Given the description of an element on the screen output the (x, y) to click on. 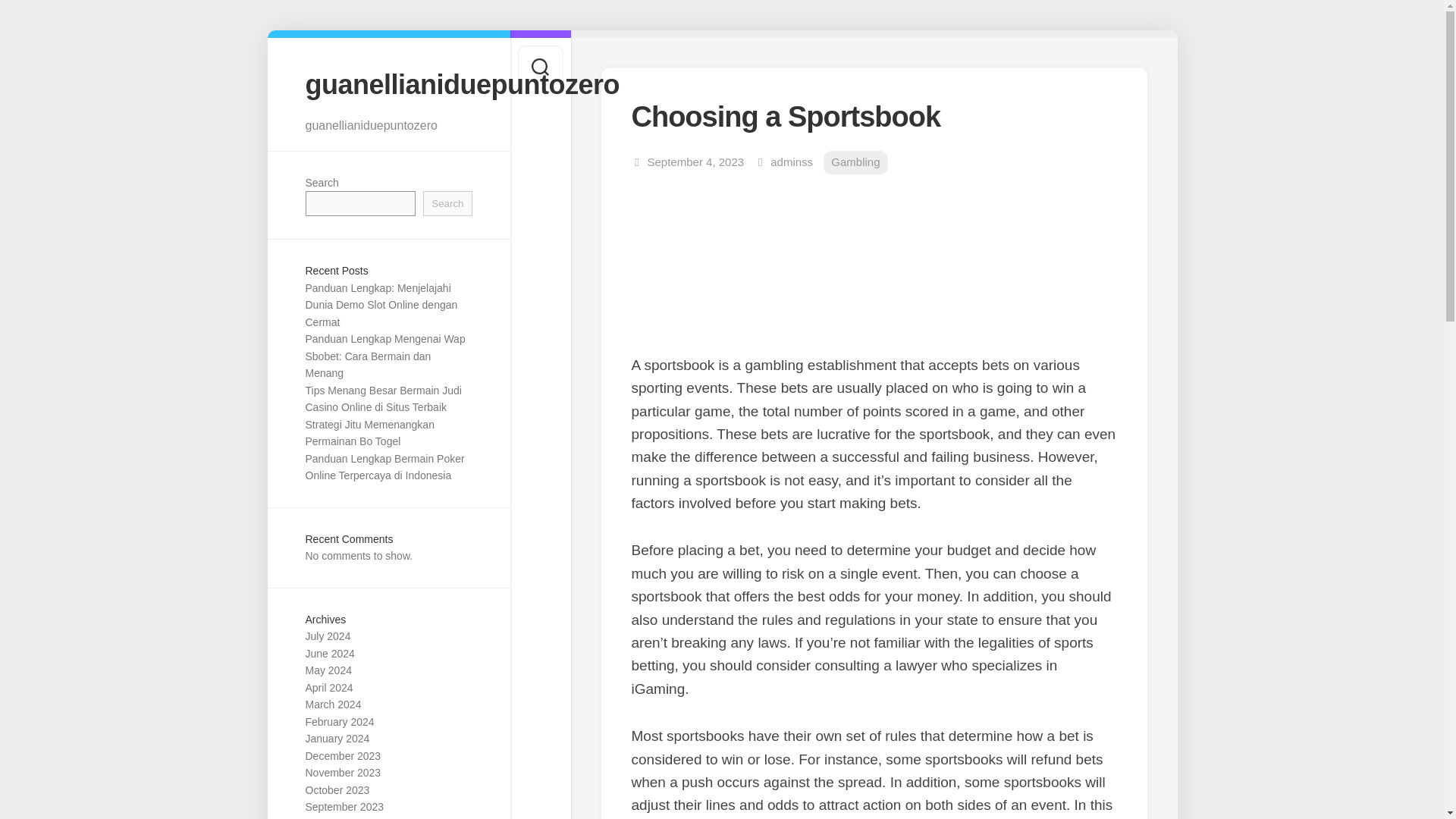
October 2023 (336, 789)
Gambling (855, 162)
July 2024 (327, 635)
March 2024 (332, 704)
September 2023 (344, 806)
May 2024 (327, 670)
January 2024 (336, 738)
Posts by adminss (791, 161)
adminss (791, 161)
Search (447, 203)
guanellianiduepuntozero (387, 83)
December 2023 (342, 756)
August 2023 (334, 818)
November 2023 (342, 772)
June 2024 (328, 653)
